Given the description of an element on the screen output the (x, y) to click on. 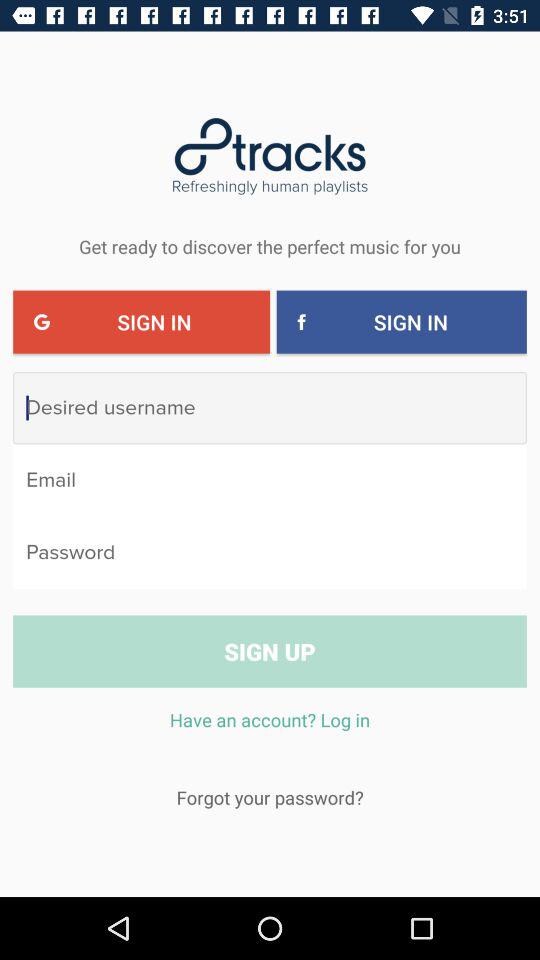
select item below the sign up icon (269, 729)
